Given the description of an element on the screen output the (x, y) to click on. 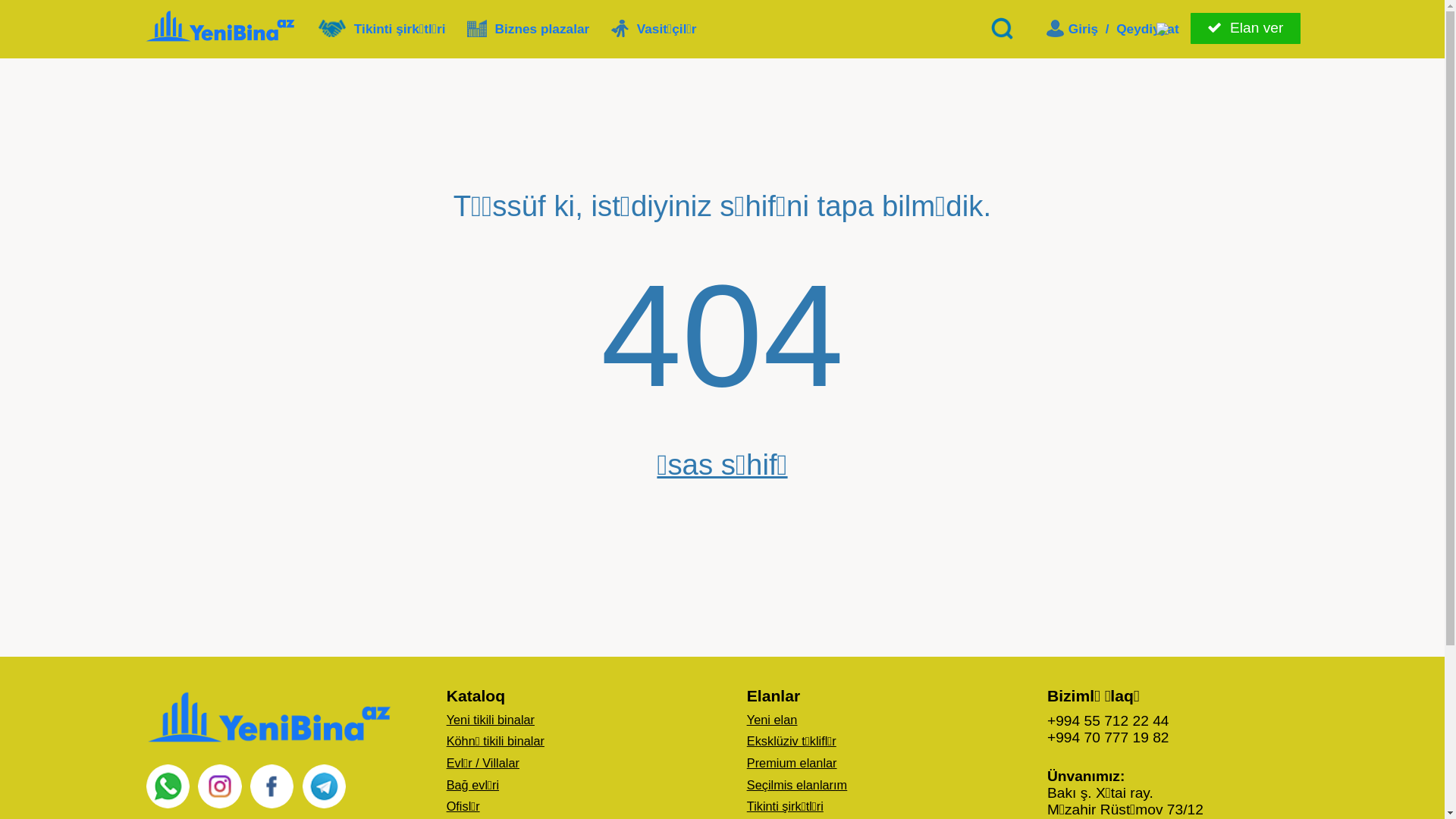
Qeydiyyat Element type: text (1147, 28)
Yeni tikili binalar Element type: text (577, 719)
  Elan ver Element type: text (1244, 27)
Yeni elan Element type: text (771, 719)
